Given the description of an element on the screen output the (x, y) to click on. 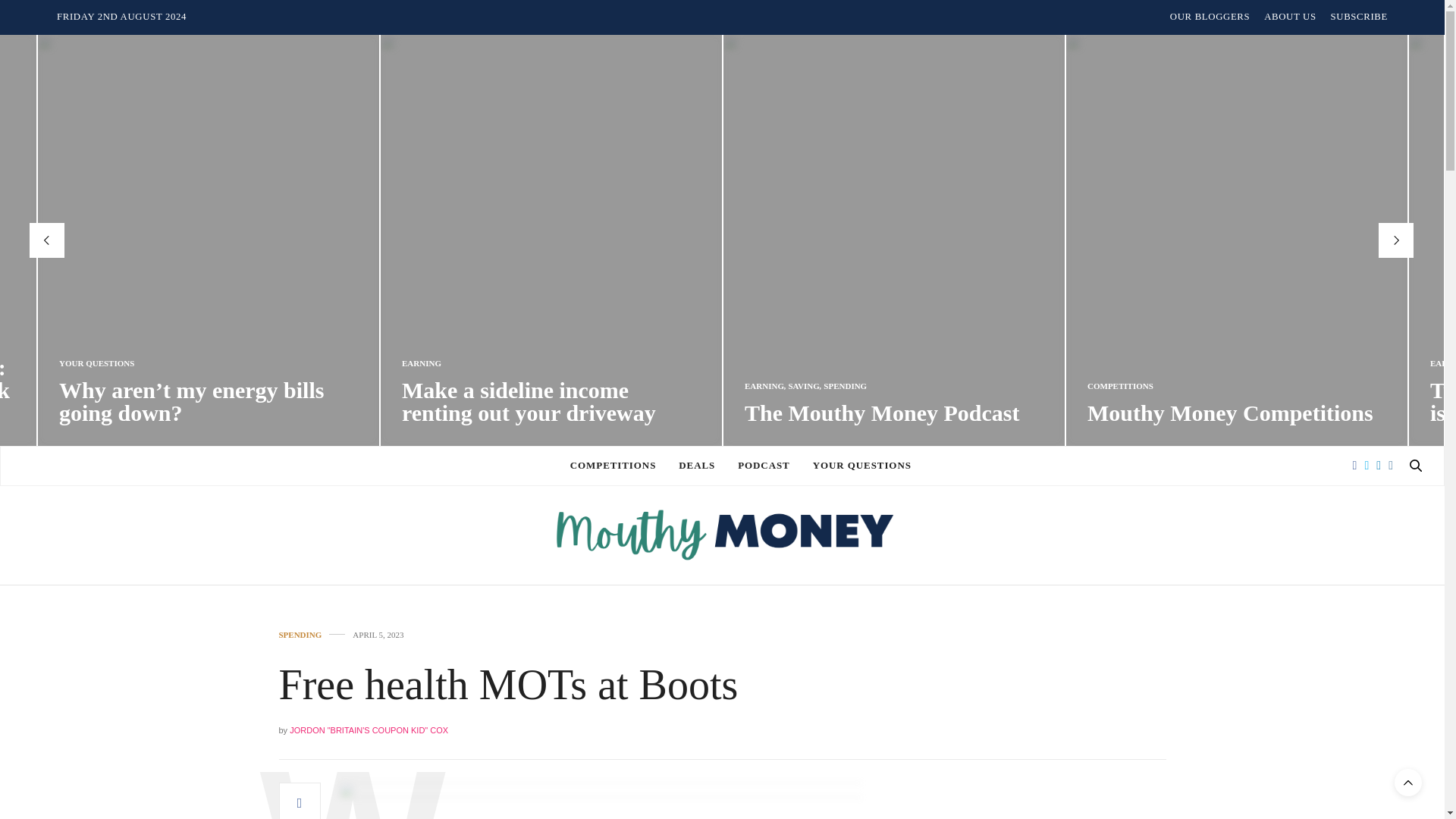
Mouthy Money Competitions (1230, 412)
COMPETITIONS (1120, 386)
SUBSCRIBE (1358, 16)
The Mouthy Money Podcast (882, 412)
Make a sideline income renting out your driveway (528, 401)
The Mouthy Money Podcast (882, 412)
SAVING (802, 386)
EARNING (764, 386)
SPENDING (845, 386)
EARNING (421, 363)
